Given the description of an element on the screen output the (x, y) to click on. 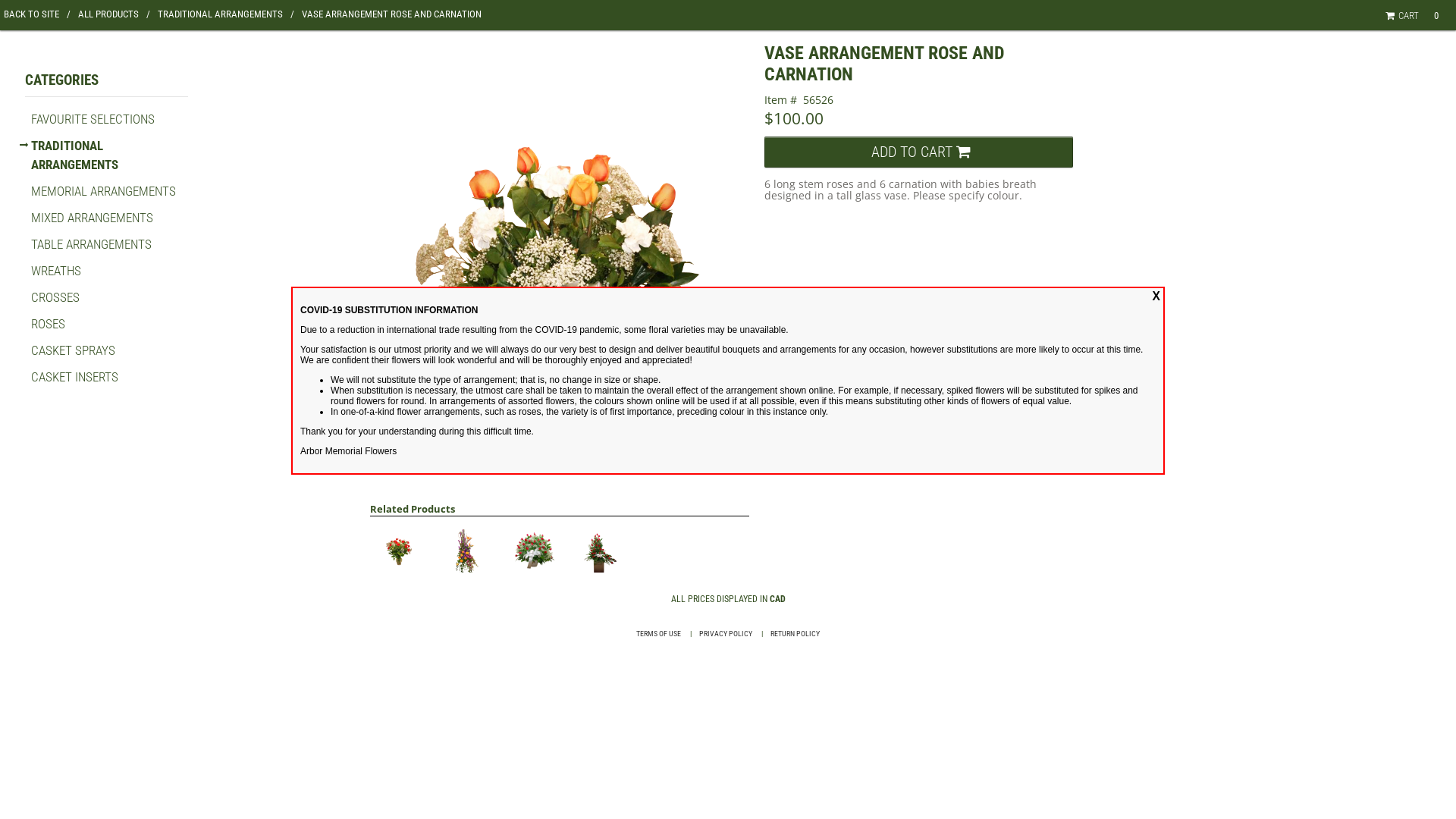
BACK TO SITE Element type: text (36, 13)
MEMORIAL ARRANGEMENTS Element type: text (103, 190)
  Memorial Arrangement 30 Roses Element type: hover (599, 549)
TRADITIONAL ARRANGEMENTS Element type: text (74, 155)
ALL PRODUCTS Element type: text (114, 13)
FAVOURITE SELECTIONS Element type: text (92, 118)
RETURN POLICY Element type: text (794, 633)
    Vase Arrangement 24 Carnations Element type: hover (398, 549)
CROSSES Element type: text (55, 296)
Click to Enlarge Element type: text (559, 270)
TABLE ARRANGEMENTS Element type: text (91, 243)
MIXED ARRANGEMENTS Element type: text (92, 217)
TRADITIONAL ARRANGEMENTS Element type: text (225, 13)
Red Rose Tribute 30 Red Roses B.B. Element type: hover (532, 549)
PRIVACY POLICY Element type: text (725, 633)
CART Element type: text (1404, 15)
 Standing Spray Tropical Element type: hover (465, 549)
ROSES Element type: text (48, 323)
CASKET SPRAYS Element type: text (73, 349)
CASKET INSERTS Element type: text (74, 376)
WREATHS Element type: text (56, 270)
TERMS OF USE Element type: text (658, 633)
ADD TO CART Element type: text (918, 151)
